Given the description of an element on the screen output the (x, y) to click on. 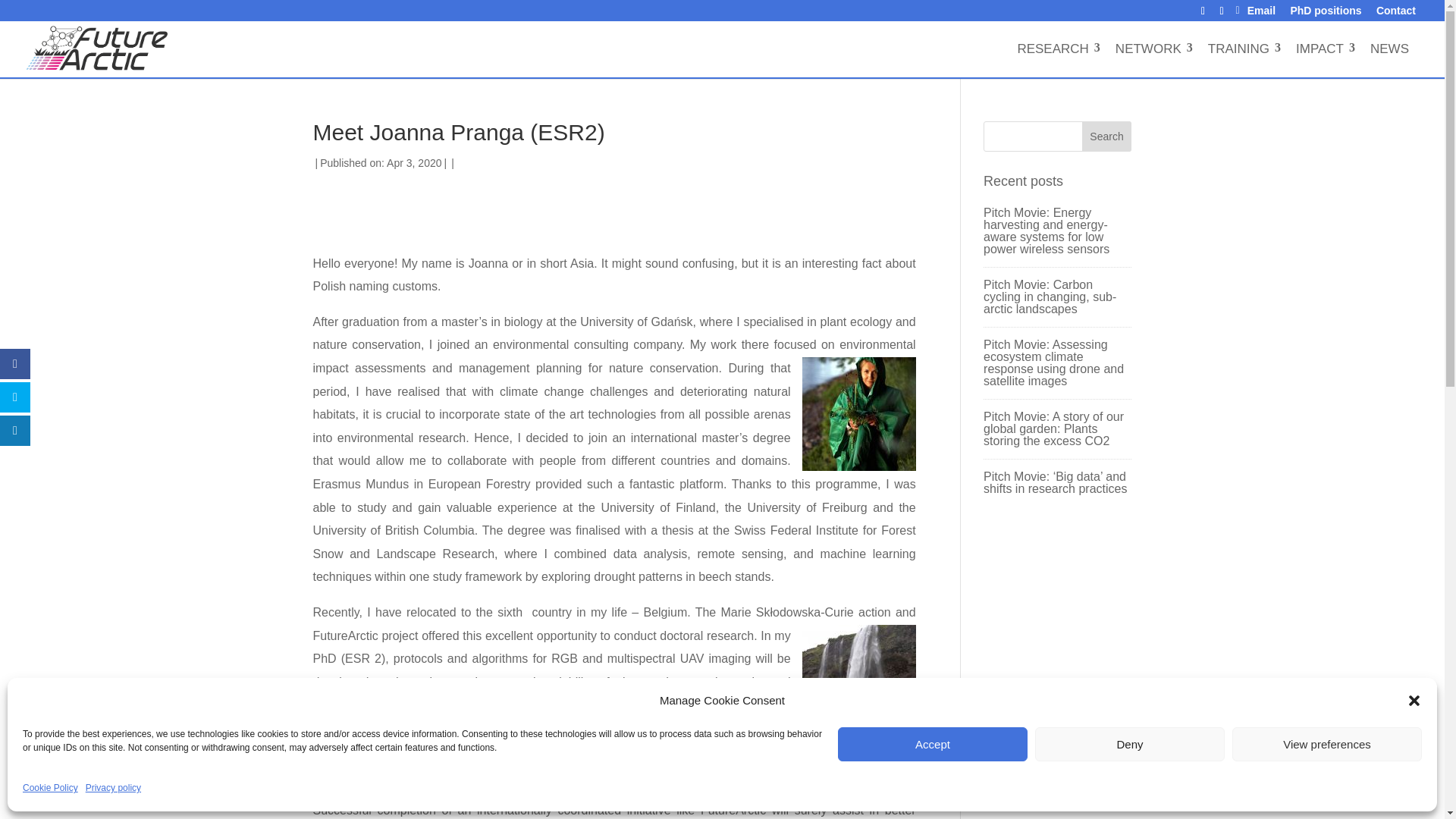
IMPACT (1319, 48)
NETWORK (1147, 48)
RESEARCH (1052, 48)
Contact (1396, 10)
Privacy policy (113, 788)
NEWS (1389, 48)
Deny (1129, 744)
View preferences (1326, 744)
PhD positions (1325, 10)
Accept (932, 744)
